Given the description of an element on the screen output the (x, y) to click on. 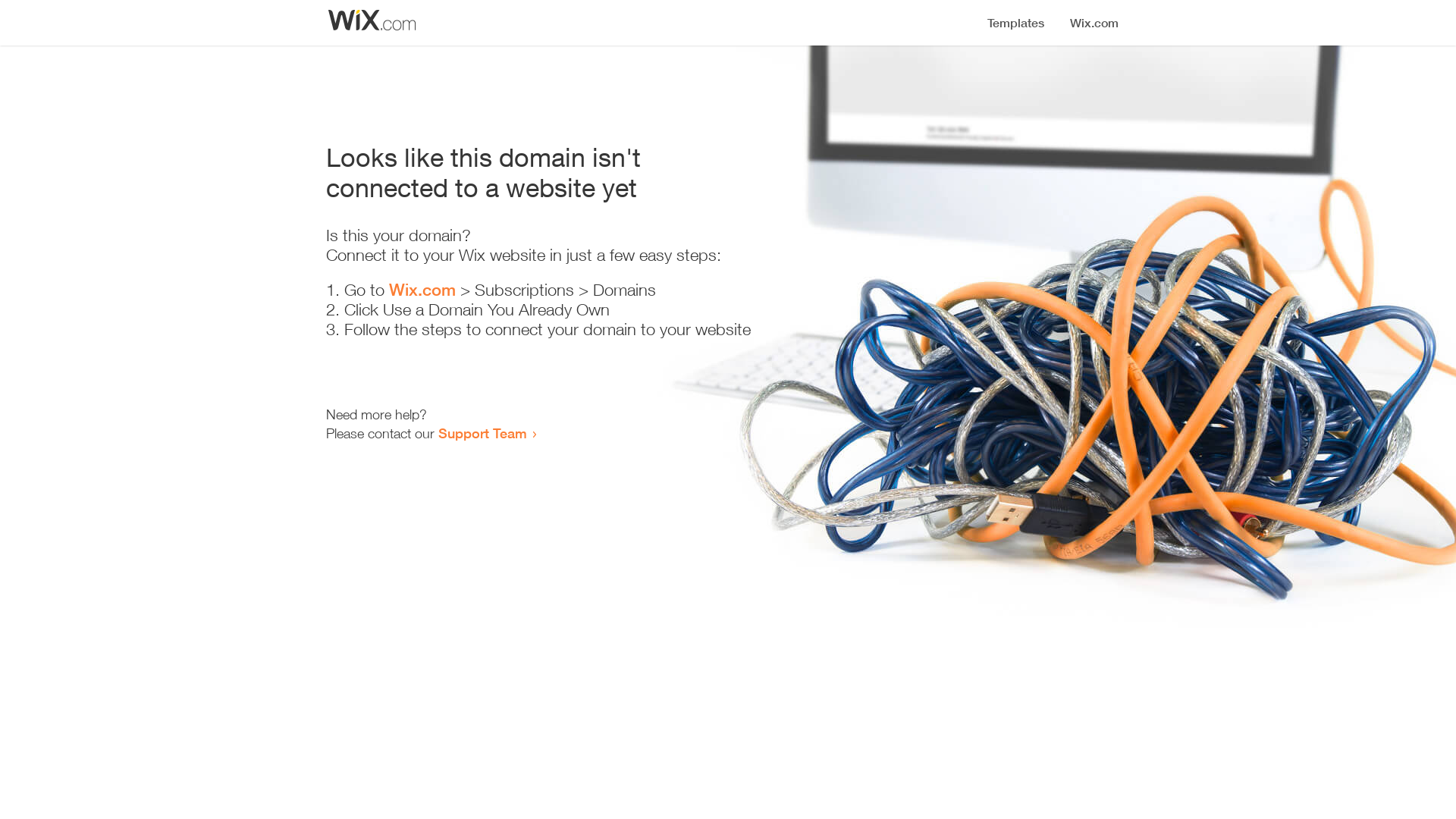
Support Team Element type: text (482, 432)
Wix.com Element type: text (422, 289)
